Given the description of an element on the screen output the (x, y) to click on. 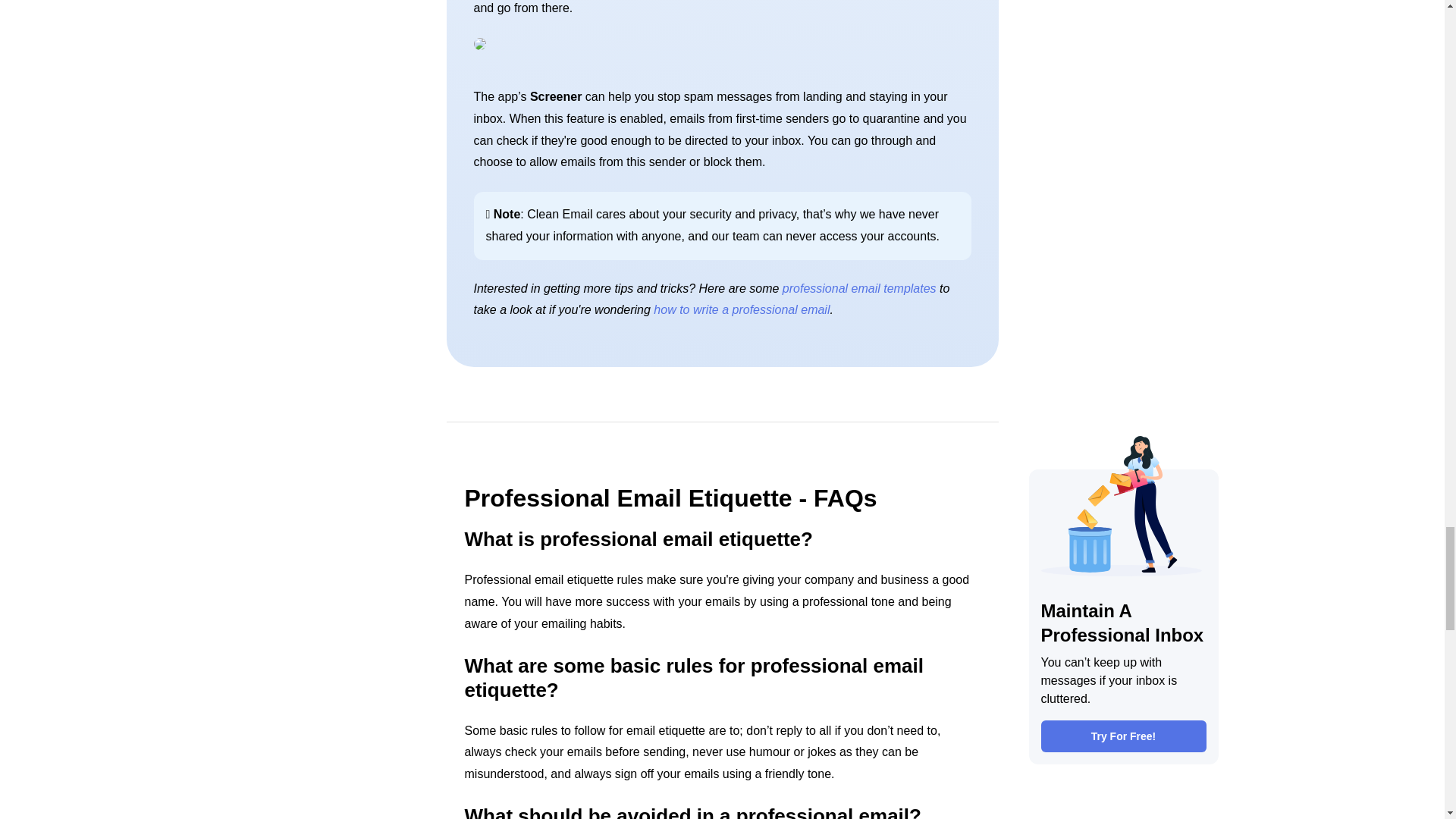
how to write a professional email (741, 309)
professional email templates (859, 287)
